Given the description of an element on the screen output the (x, y) to click on. 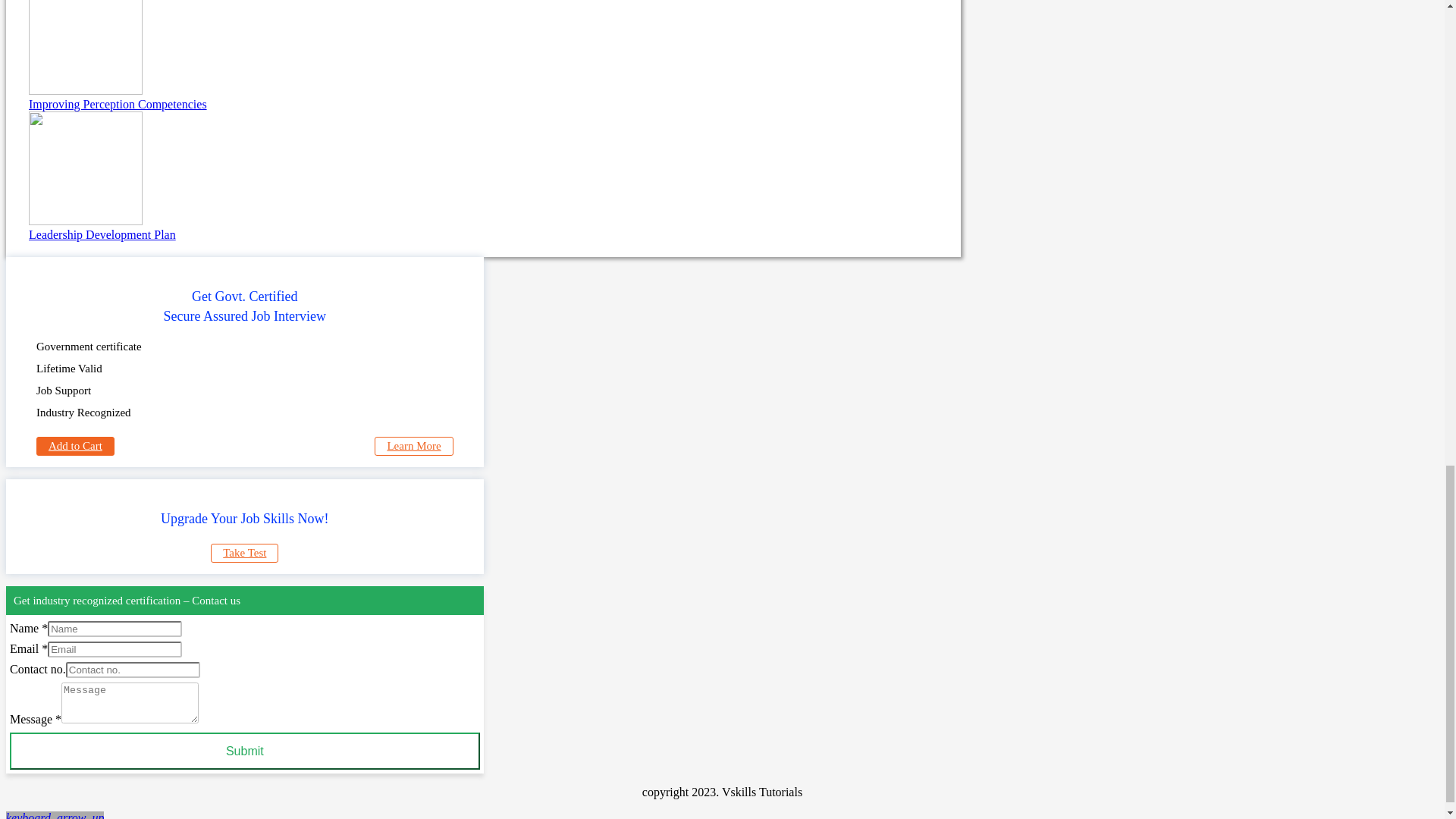
Leadership Development Plan (483, 176)
Improving Perception Competencies (483, 55)
